Given the description of an element on the screen output the (x, y) to click on. 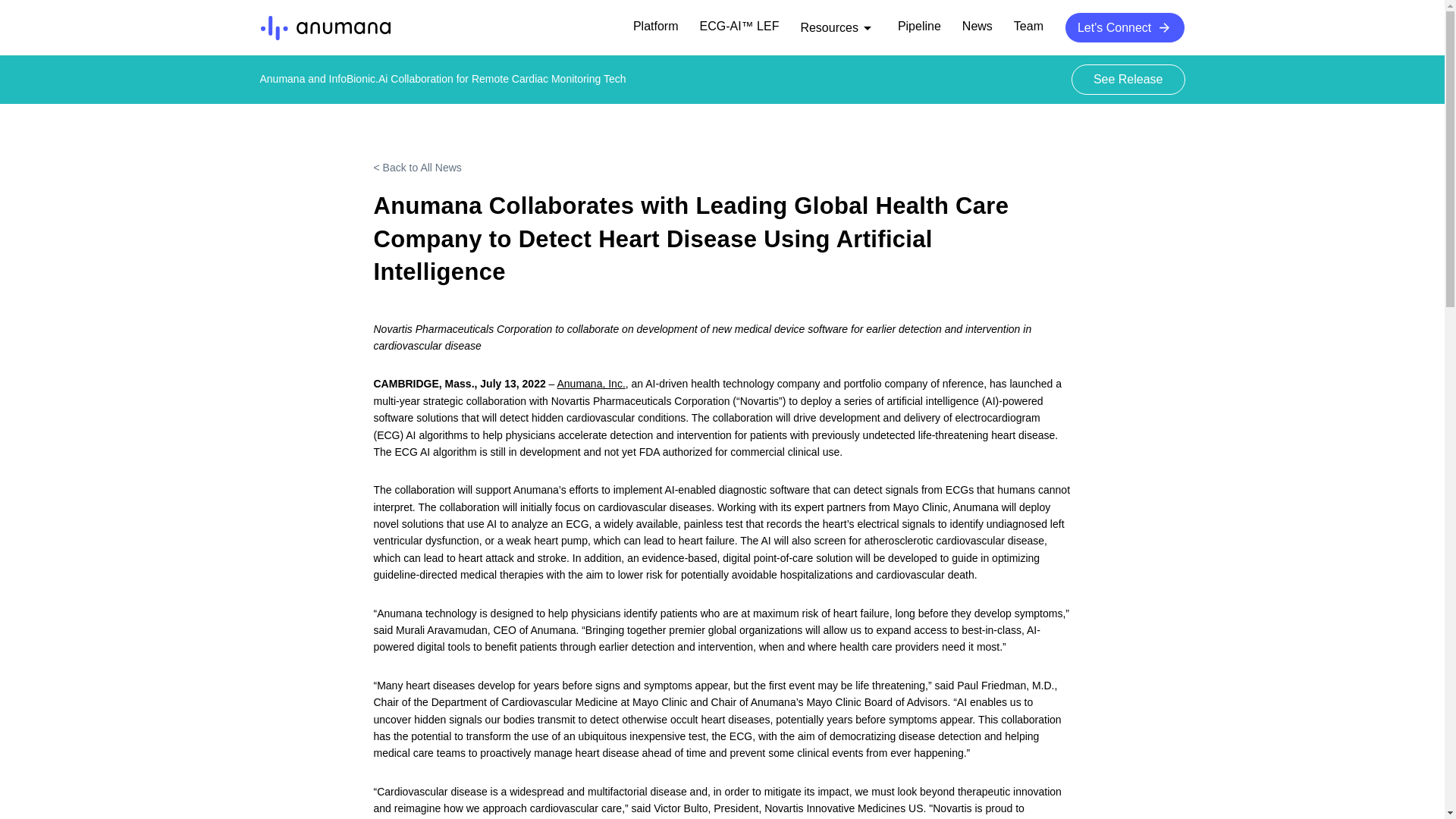
See Release (1128, 79)
Platform (655, 27)
Let's Connect (1124, 27)
News (977, 27)
Anumana, Inc. (590, 383)
Pipeline (919, 27)
Team (1028, 27)
